Given the description of an element on the screen output the (x, y) to click on. 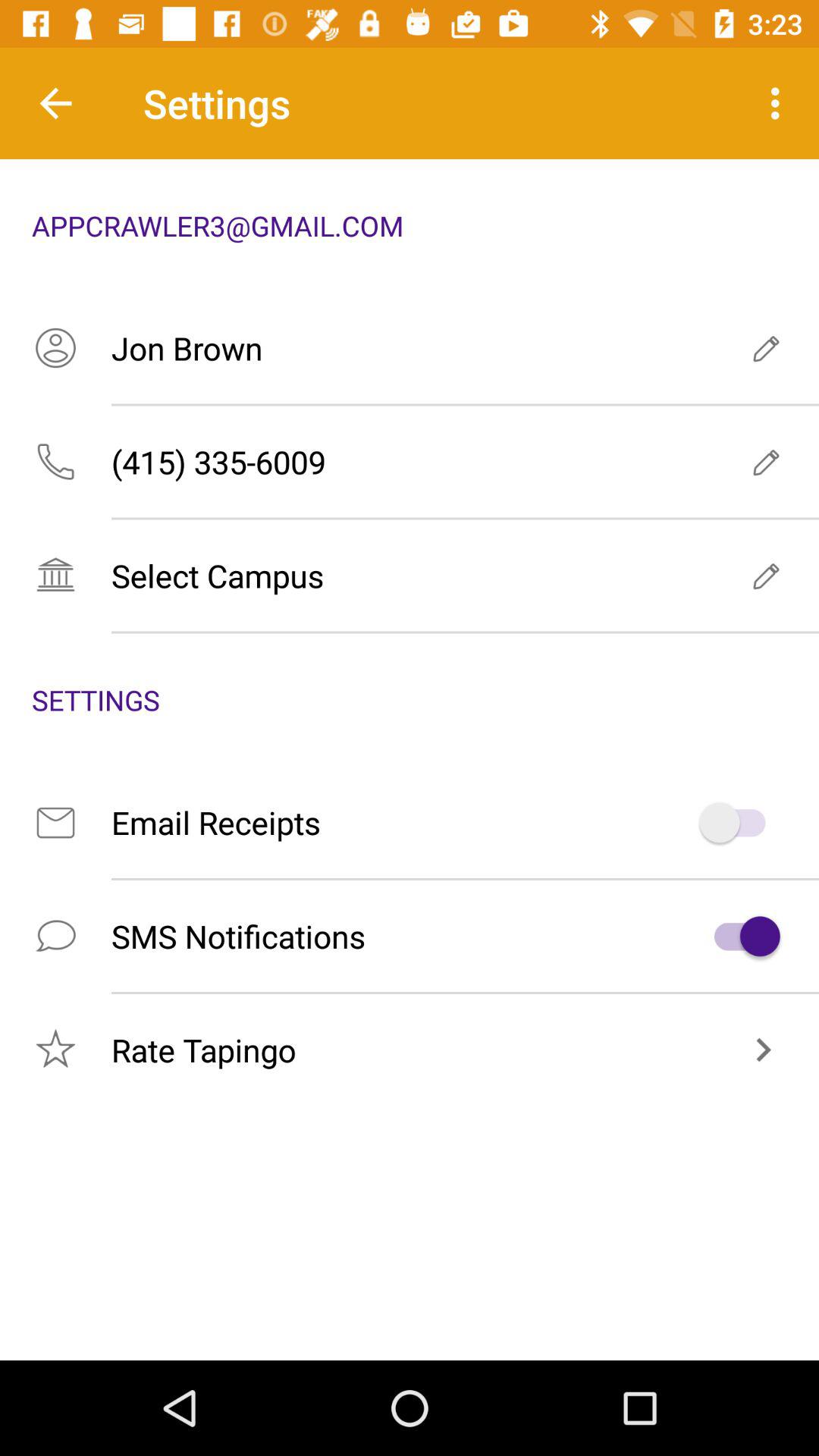
choose item below (415) 335-6009 (409, 575)
